Given the description of an element on the screen output the (x, y) to click on. 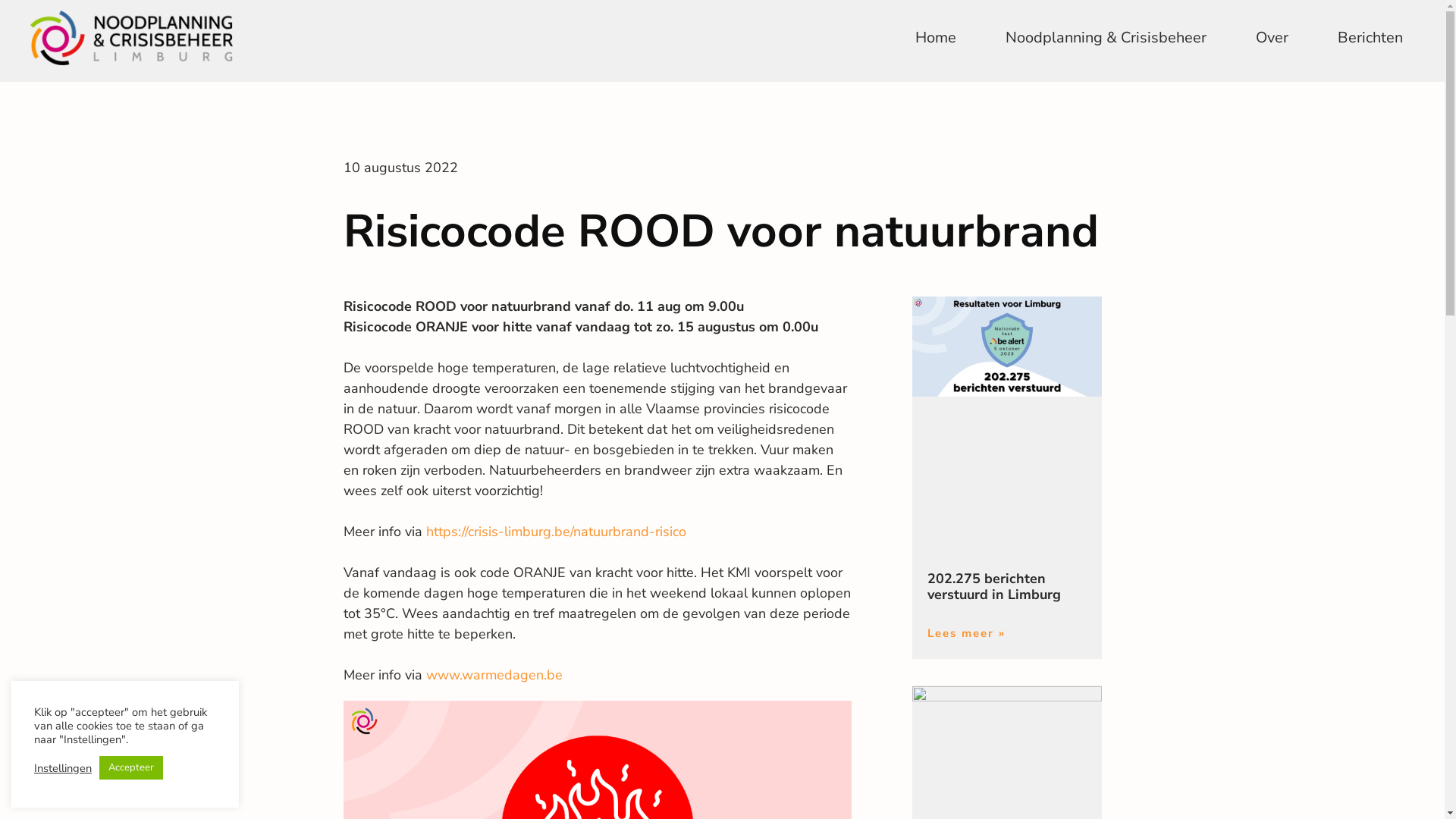
https://crisis-limburg.be/natuurbrand-risico Element type: text (556, 531)
Noodplanning & Crisisbeheer Element type: text (1105, 37)
202.275 berichten verstuurd in Limburg Element type: text (993, 586)
www.warmedagen.be Element type: text (494, 674)
Instellingen Element type: text (62, 768)
Berichten Element type: text (1370, 37)
Home Element type: text (935, 37)
Over Element type: text (1271, 37)
Accepteer Element type: text (131, 767)
